Given the description of an element on the screen output the (x, y) to click on. 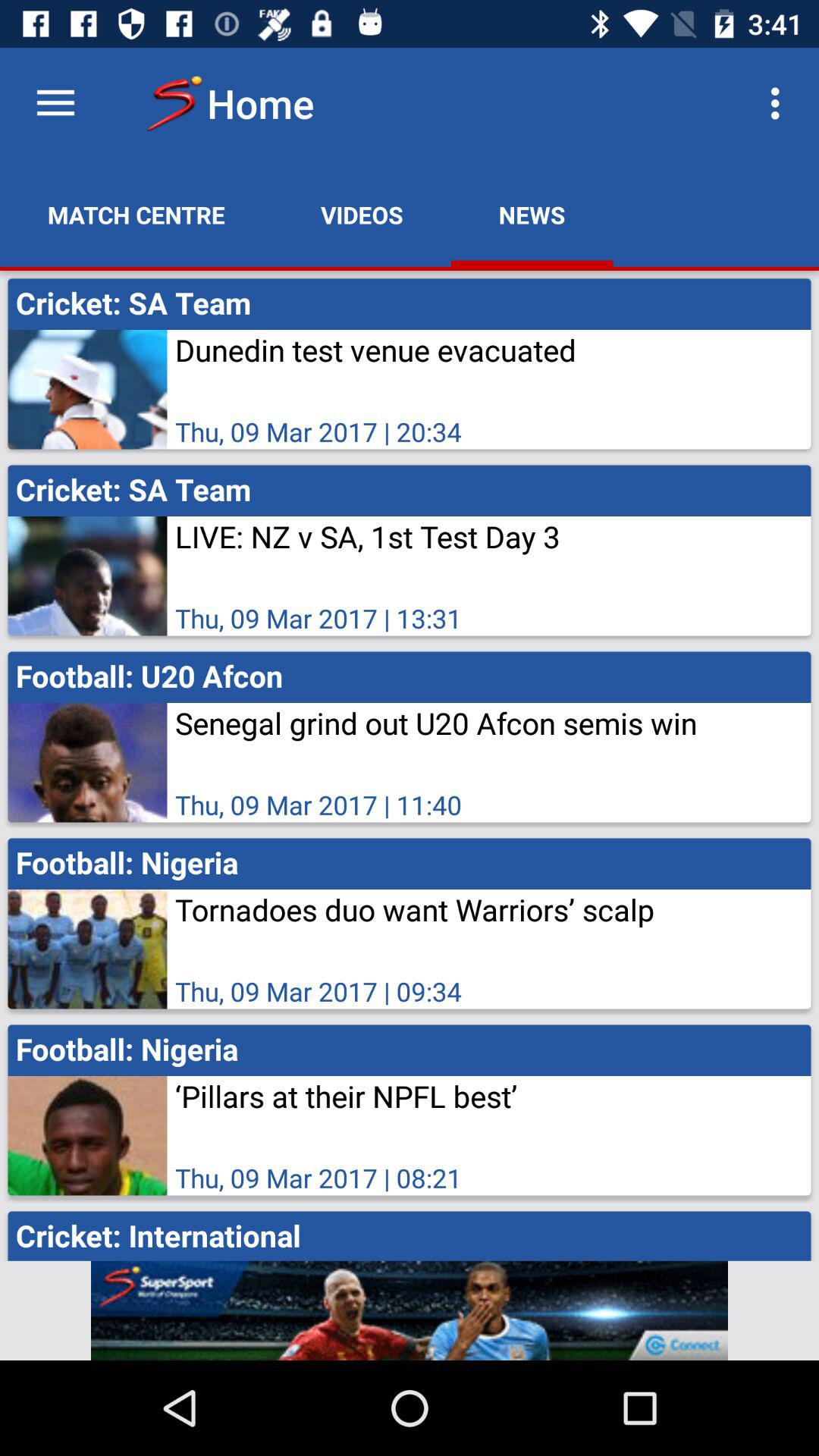
bring up options (55, 103)
